Given the description of an element on the screen output the (x, y) to click on. 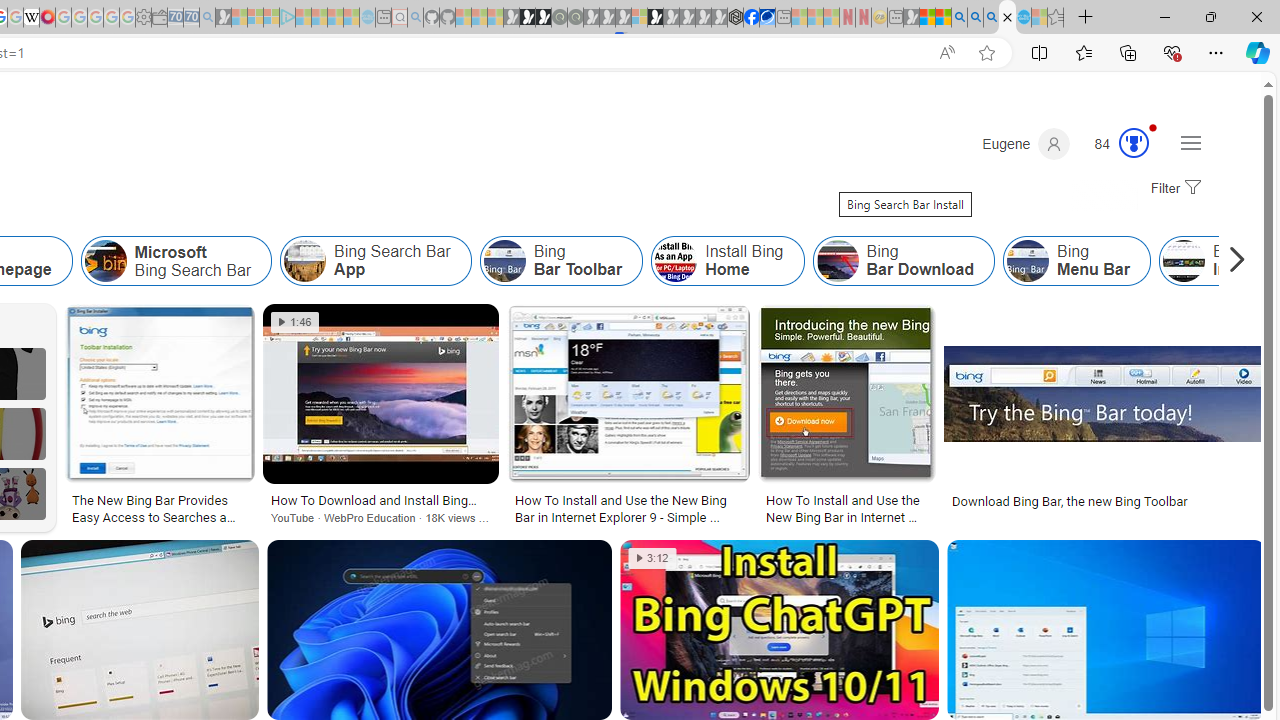
Sign in to your account - Sleeping (639, 17)
Install Bing Home (727, 260)
Bing Search Bar Install - Search Images (1007, 17)
Settings and quick links (1190, 142)
Target page - Wikipedia (31, 17)
Bing AI - Search (959, 17)
Scroll right (1231, 260)
